Given the description of an element on the screen output the (x, y) to click on. 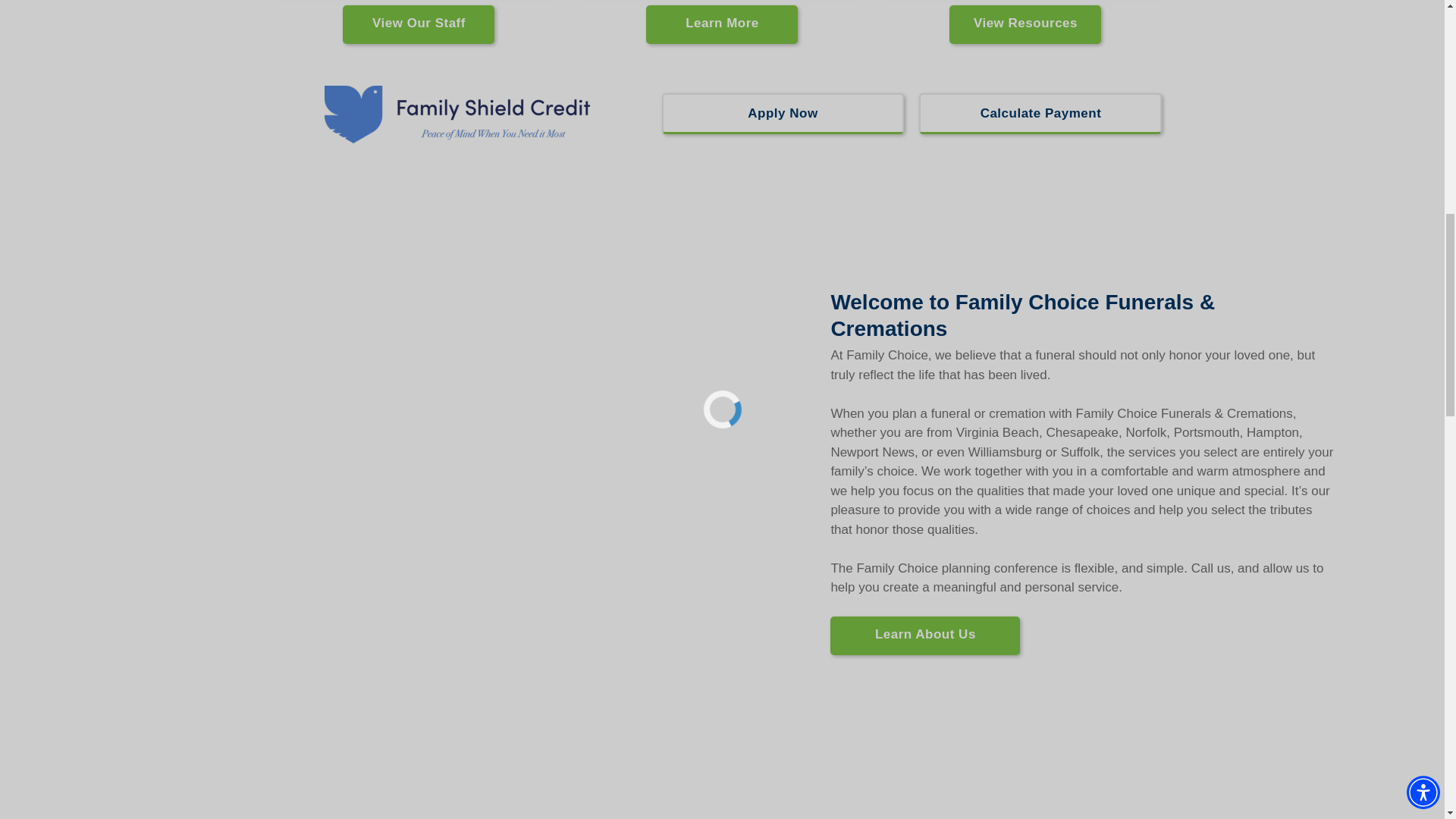
Apply Now (782, 113)
Learn More (721, 24)
View Our Staff (418, 24)
View Resources (1024, 24)
Image Title (456, 113)
